Given the description of an element on the screen output the (x, y) to click on. 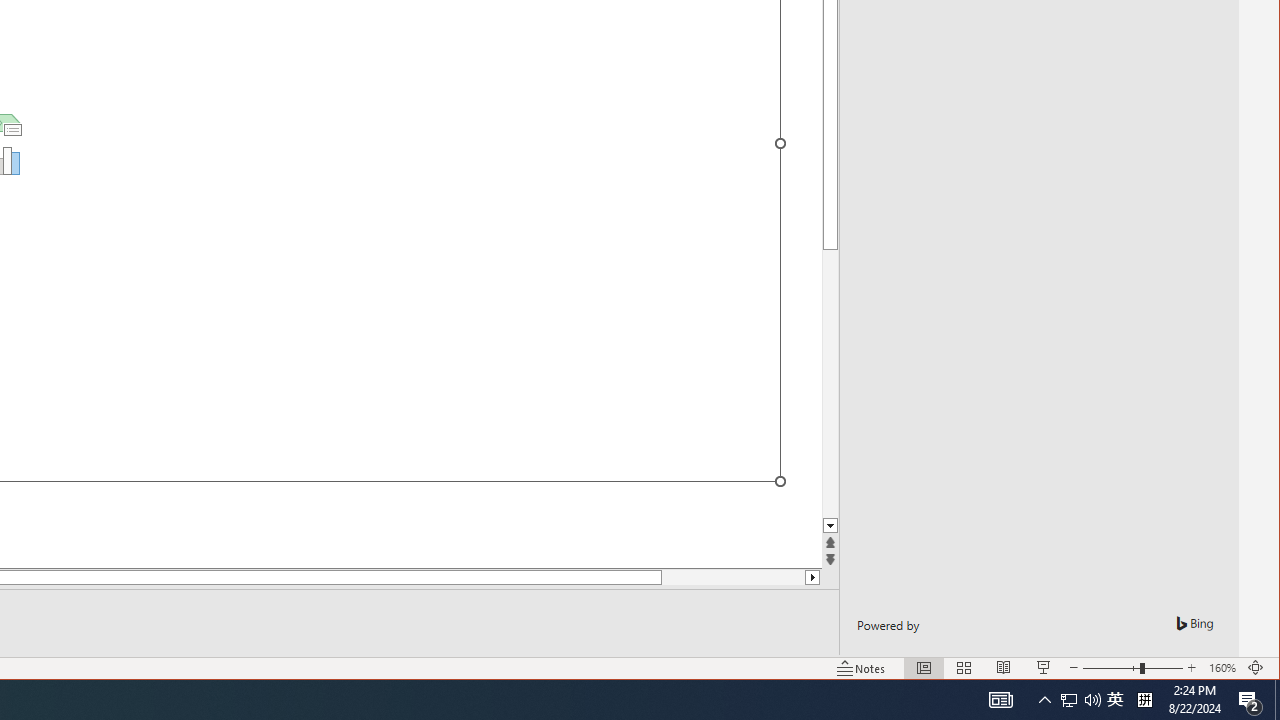
AutomationID: 4105 (1000, 699)
Zoom 160% (1222, 668)
